Given the description of an element on the screen output the (x, y) to click on. 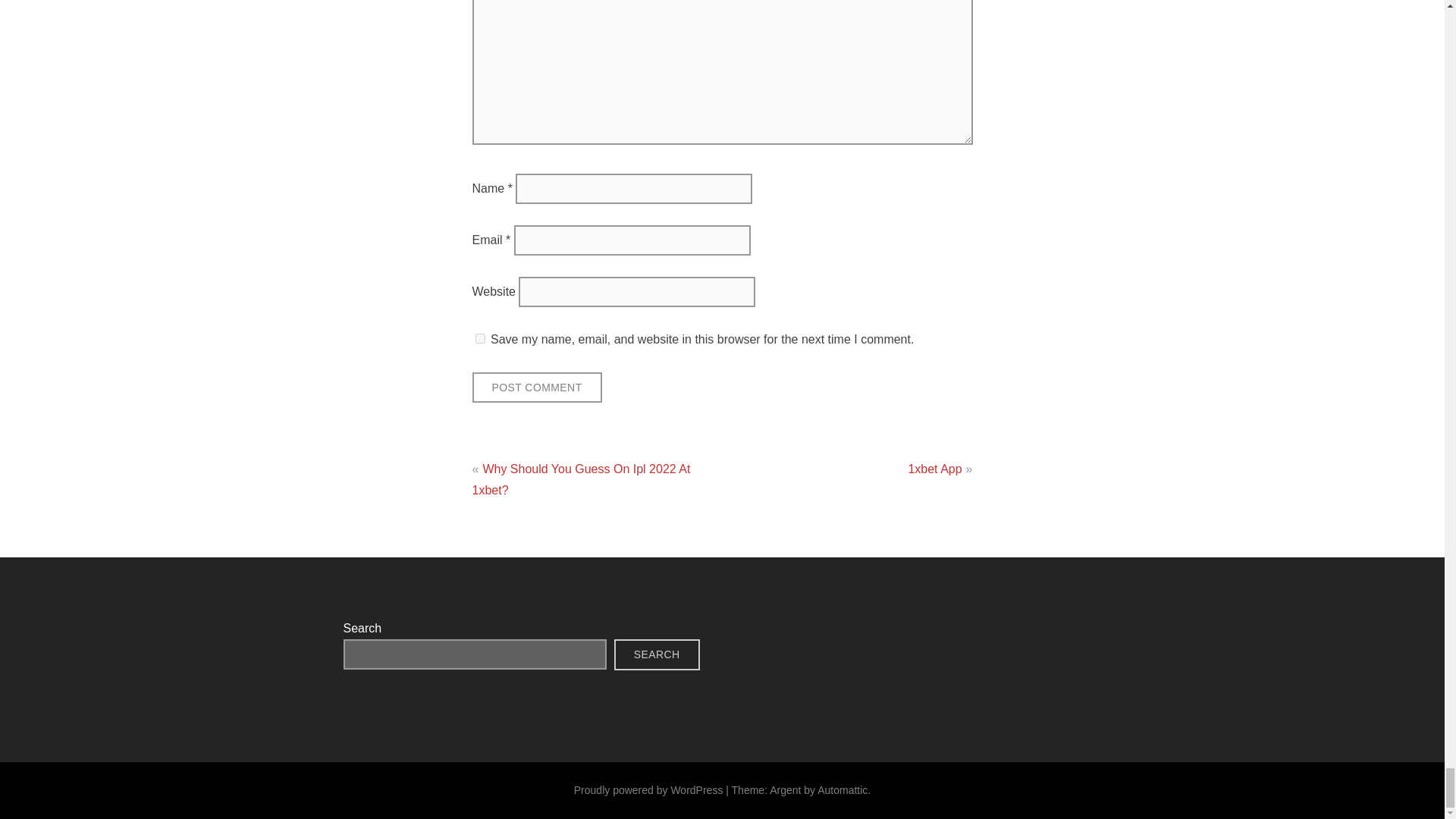
1xbet App (933, 468)
Post Comment (536, 387)
Proudly powered by WordPress (648, 789)
yes (479, 338)
Post Comment (536, 387)
Why Should You Guess On Ipl 2022 At 1xbet? (580, 479)
SEARCH (657, 654)
Automattic (841, 789)
